Given the description of an element on the screen output the (x, y) to click on. 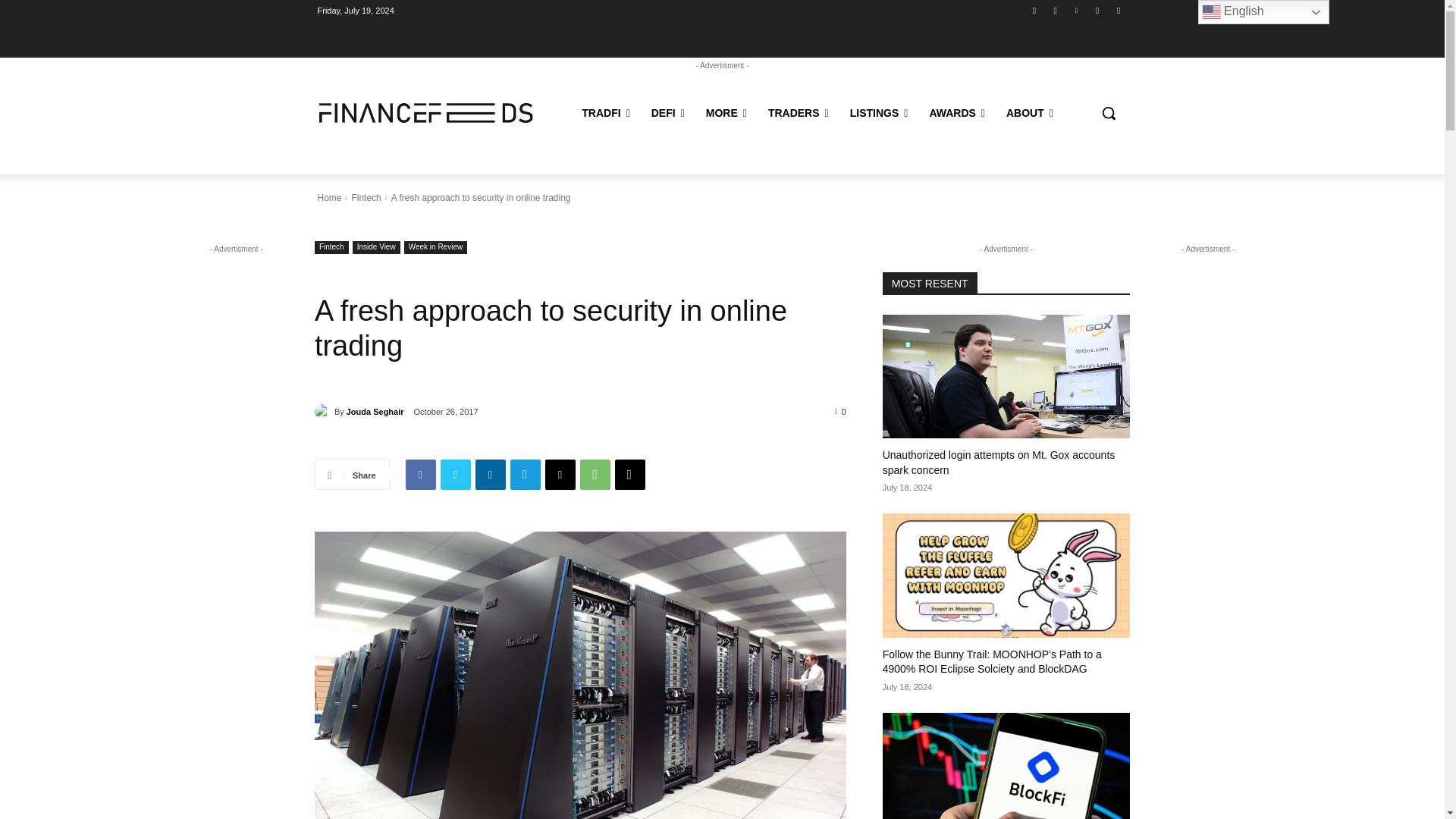
Facebook (1034, 9)
Twitter (455, 474)
Linkedin (1075, 9)
Youtube (1055, 9)
Jouda Seghair (324, 411)
Rss (1097, 9)
Twitter (1117, 9)
Facebook (420, 474)
View all posts in Fintech (365, 197)
